Given the description of an element on the screen output the (x, y) to click on. 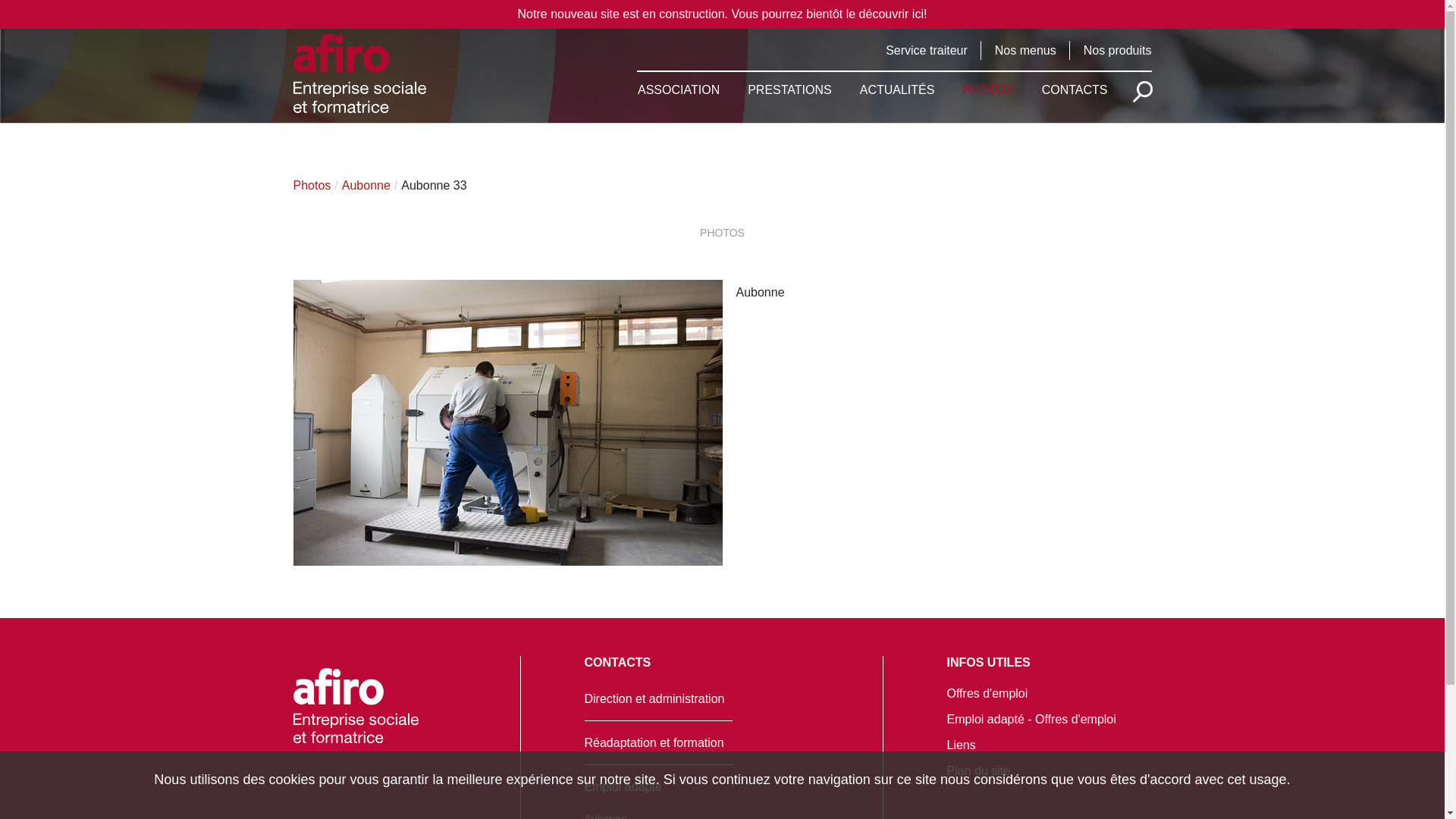
PHOTOS Element type: text (987, 83)
Photos Element type: text (311, 184)
CONTACTS Element type: text (1074, 83)
VALIDER Element type: text (1142, 91)
Nos produits Element type: text (1117, 49)
ASSOCIATION Element type: text (678, 83)
CONTACTS Element type: text (616, 661)
Aubonne Element type: text (366, 184)
Offres d'emploi Element type: text (986, 693)
Service traiteur Element type: text (926, 49)
Liens Element type: text (960, 744)
PRESTATIONS Element type: text (789, 83)
Direction et administration Element type: text (653, 699)
Plan du site Element type: text (978, 770)
Nos menus Element type: text (1025, 49)
